Given the description of an element on the screen output the (x, y) to click on. 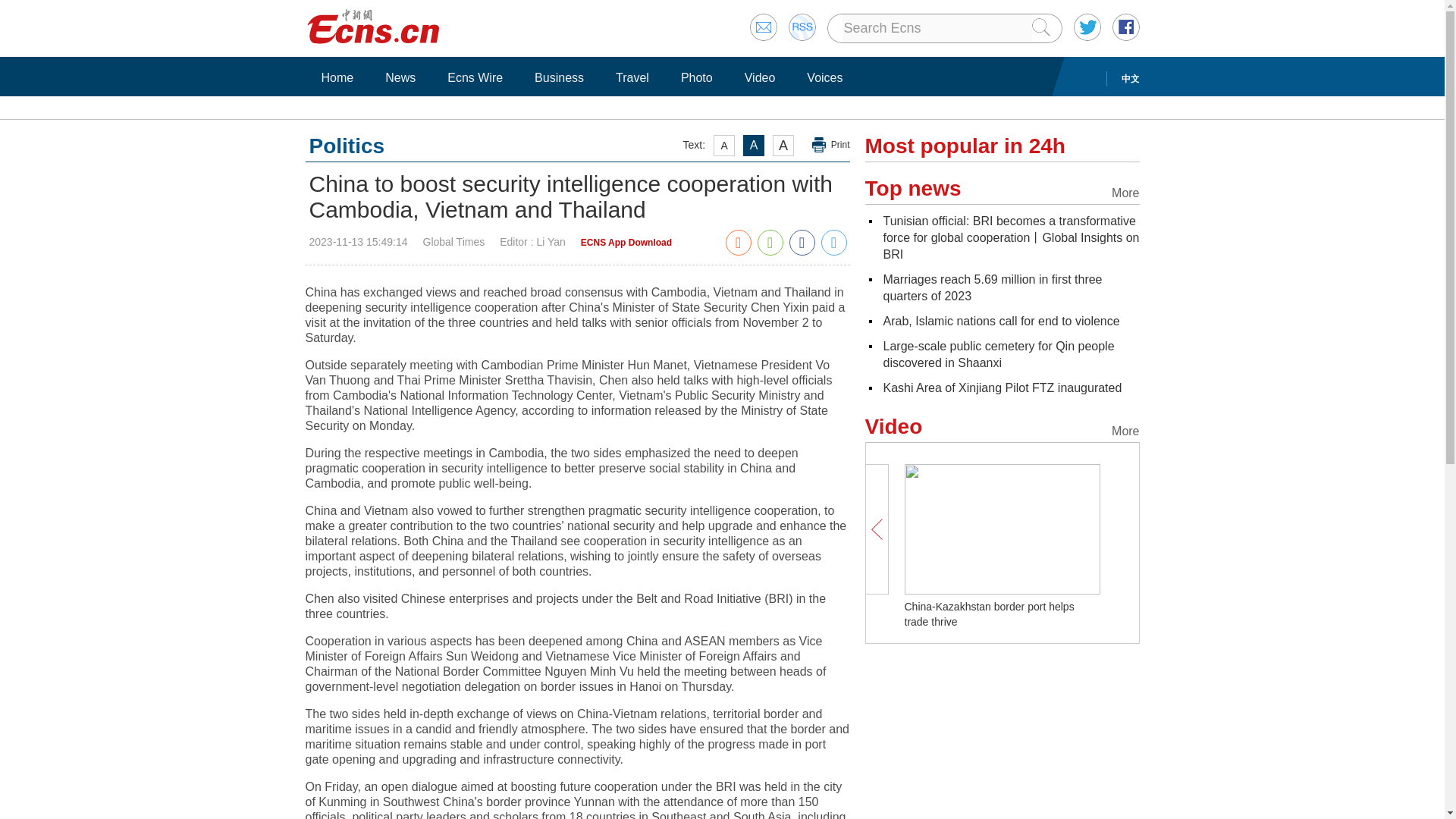
Video (760, 77)
Search Ecns (935, 27)
News (400, 77)
ECNS App Download (625, 242)
Ecns Wire (475, 77)
Home (337, 77)
Print (831, 144)
Voices (823, 77)
Travel (632, 77)
Business (558, 77)
Photo (696, 77)
